Given the description of an element on the screen output the (x, y) to click on. 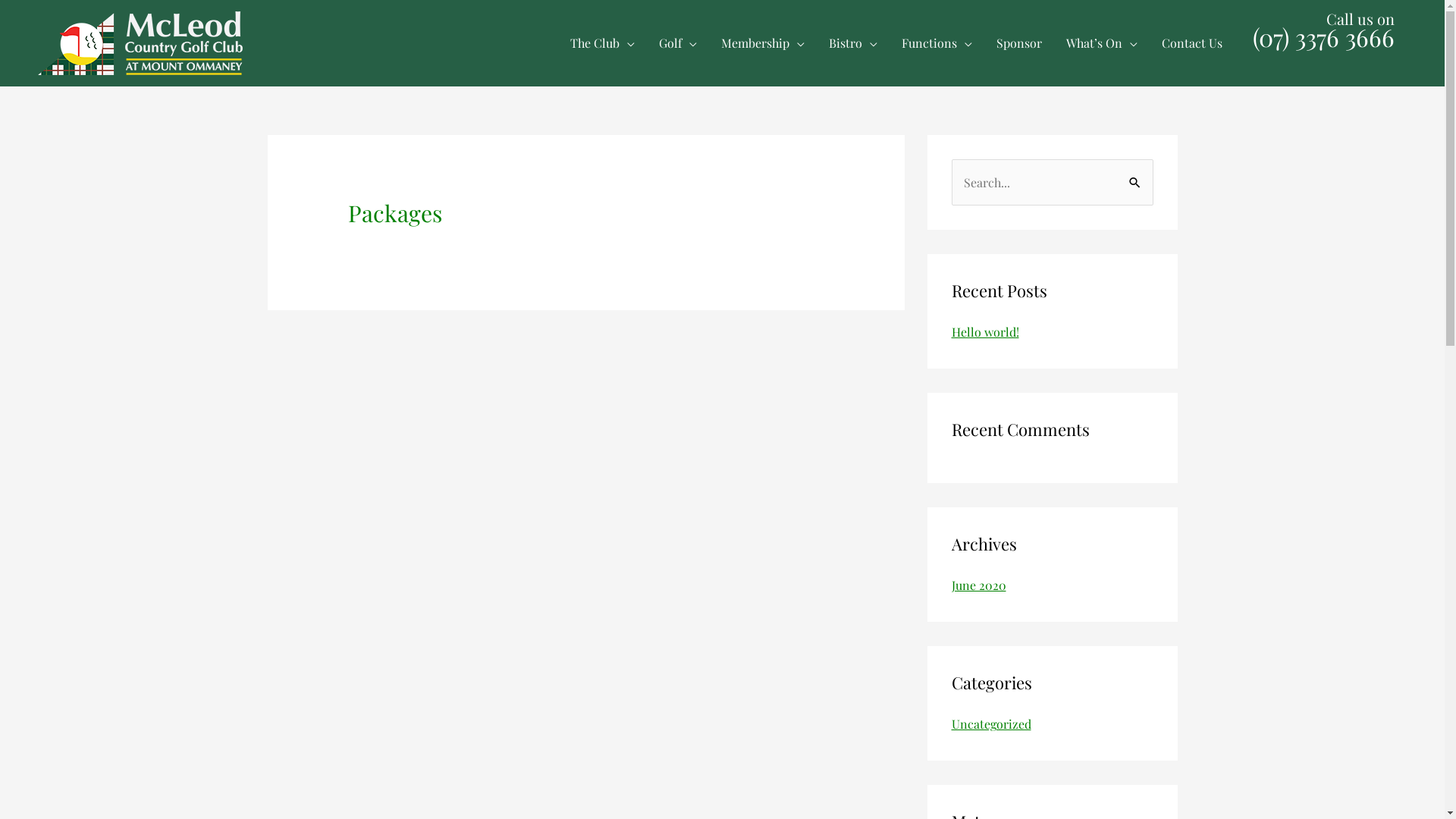
Uncategorized Element type: text (990, 723)
June 2020 Element type: text (977, 585)
Membership Element type: text (762, 42)
Hello world! Element type: text (984, 331)
Sponsor Element type: text (1019, 42)
The Club Element type: text (602, 42)
Golf Element type: text (677, 42)
Search Element type: text (1136, 175)
Contact Us Element type: text (1191, 42)
Bistro Element type: text (852, 42)
Functions Element type: text (936, 42)
